Given the description of an element on the screen output the (x, y) to click on. 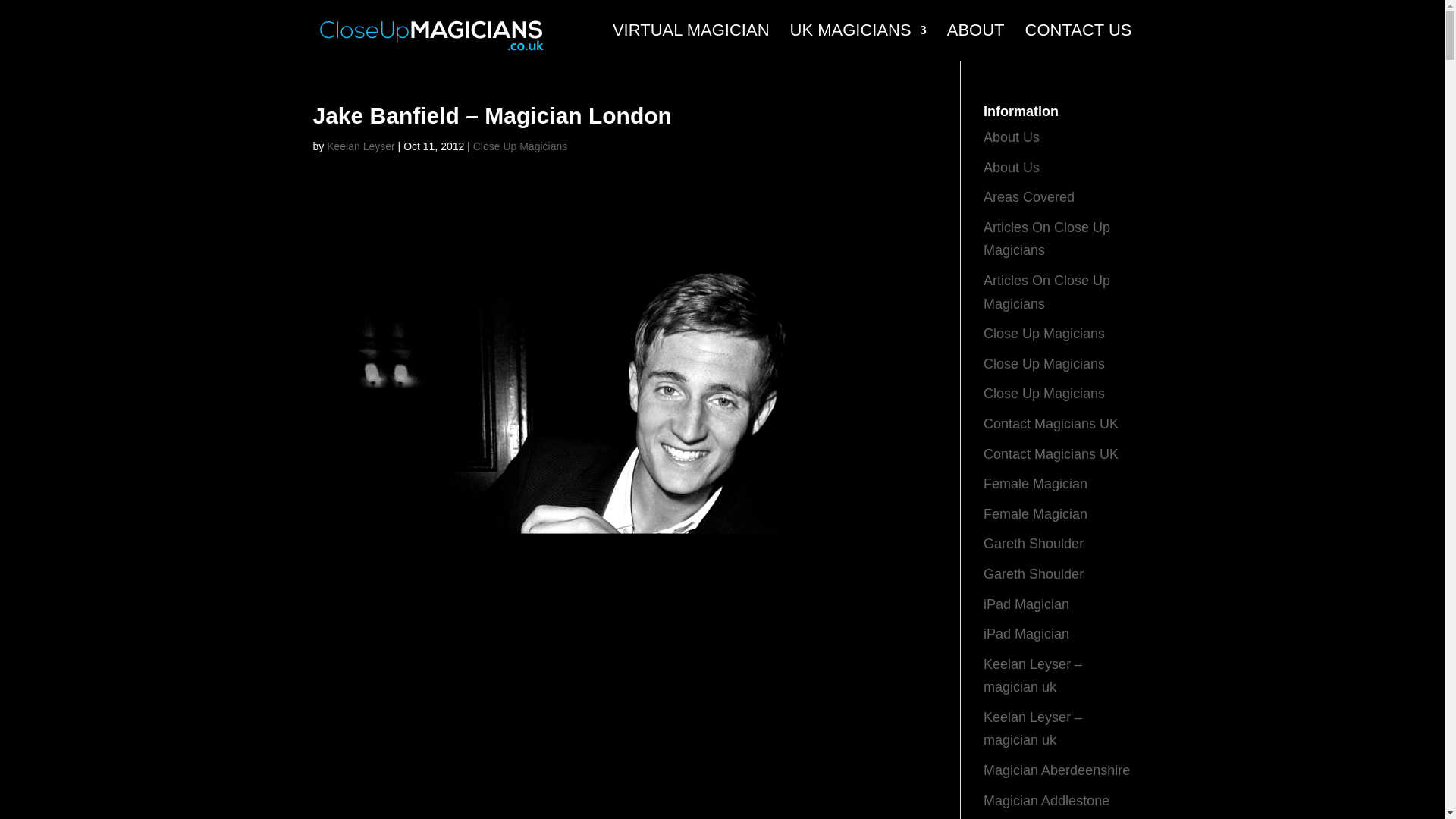
Areas Covered (1029, 196)
Close Up Magicians (1044, 393)
iPad Magician (1026, 633)
About Us (1011, 136)
Close Up Magicians (520, 146)
UK MAGICIANS (858, 42)
VIRTUAL MAGICIAN (691, 42)
Female Magician (1035, 513)
Virtual Magician (691, 42)
Close Up Magicians (1044, 363)
